Given the description of an element on the screen output the (x, y) to click on. 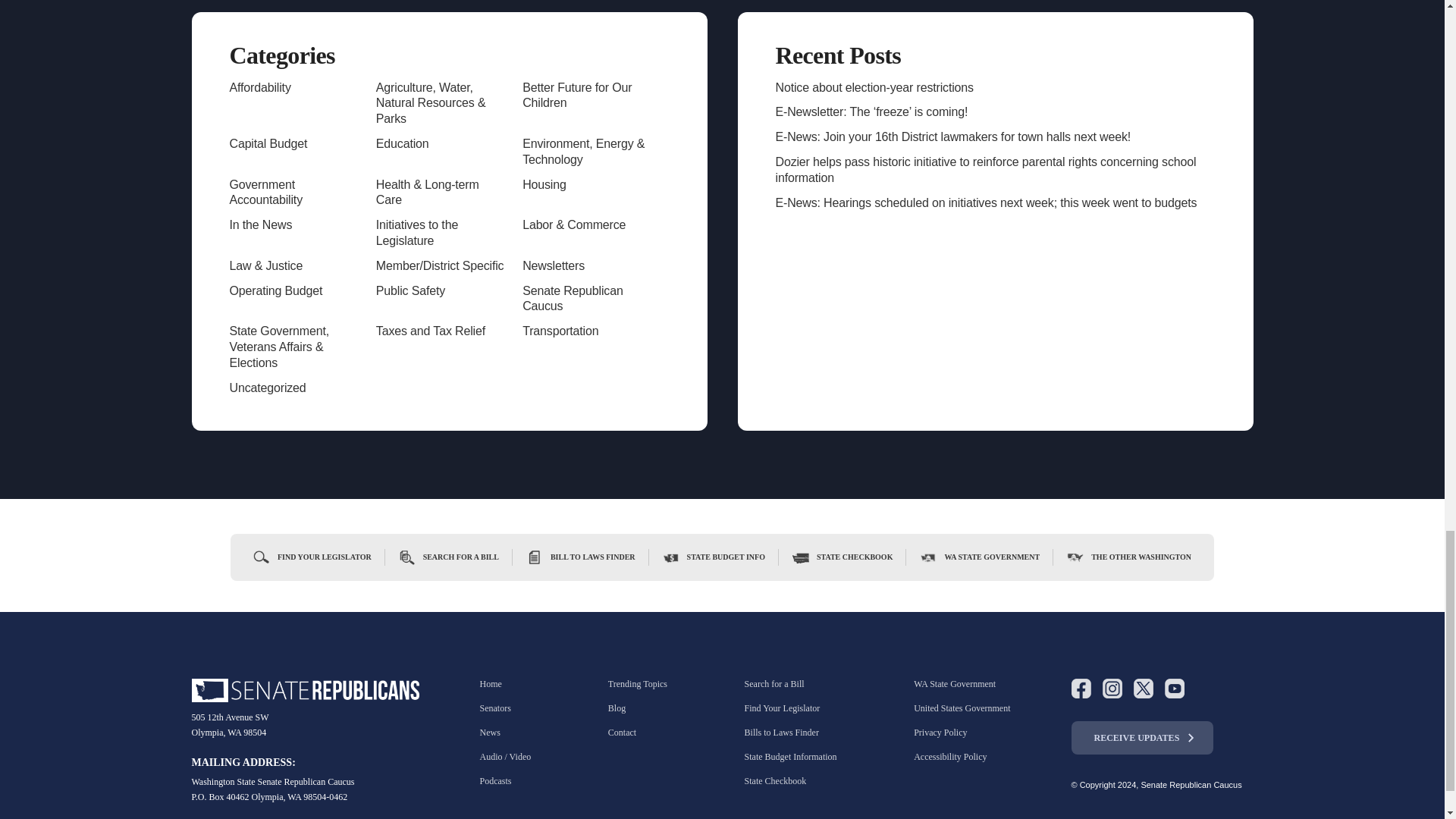
X (1142, 688)
Facebook (1080, 688)
Instagram (1112, 688)
Senate Republican Caucus (304, 689)
Youtube (1174, 688)
